Given the description of an element on the screen output the (x, y) to click on. 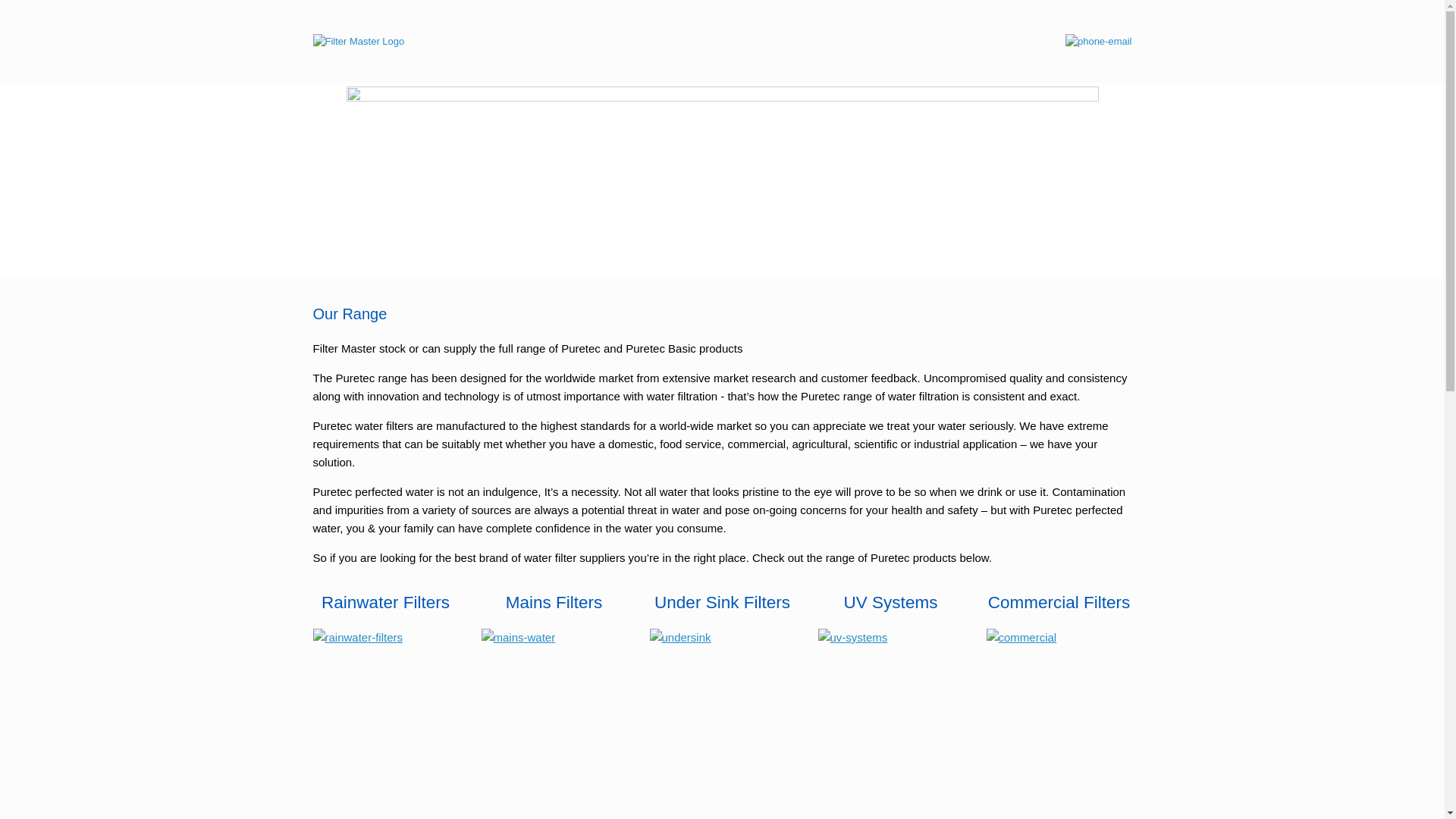
Filter Master Element type: hover (358, 41)
